Given the description of an element on the screen output the (x, y) to click on. 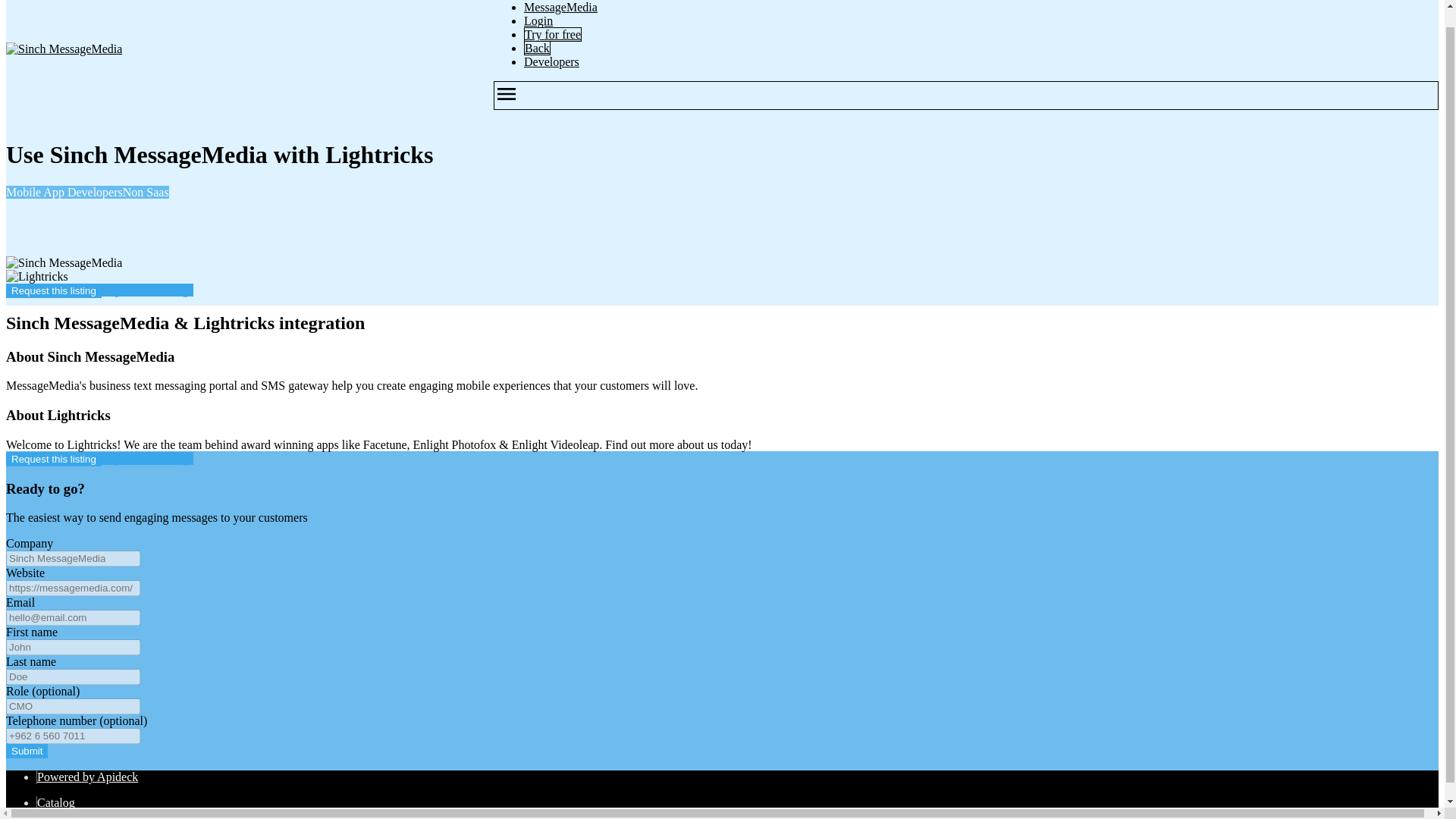
Request this listing (53, 459)
Sinch MessageMedia (63, 49)
Login (538, 20)
Explore all listings (147, 458)
Powered by Apideck (87, 776)
Try for free (552, 34)
Request this listing (53, 290)
Sinch MessageMedia (63, 263)
Submit (26, 750)
Developers (551, 61)
Explore all listings (147, 289)
Lightricks (36, 276)
Back (537, 47)
Catalog (56, 802)
MessageMedia (560, 6)
